Given the description of an element on the screen output the (x, y) to click on. 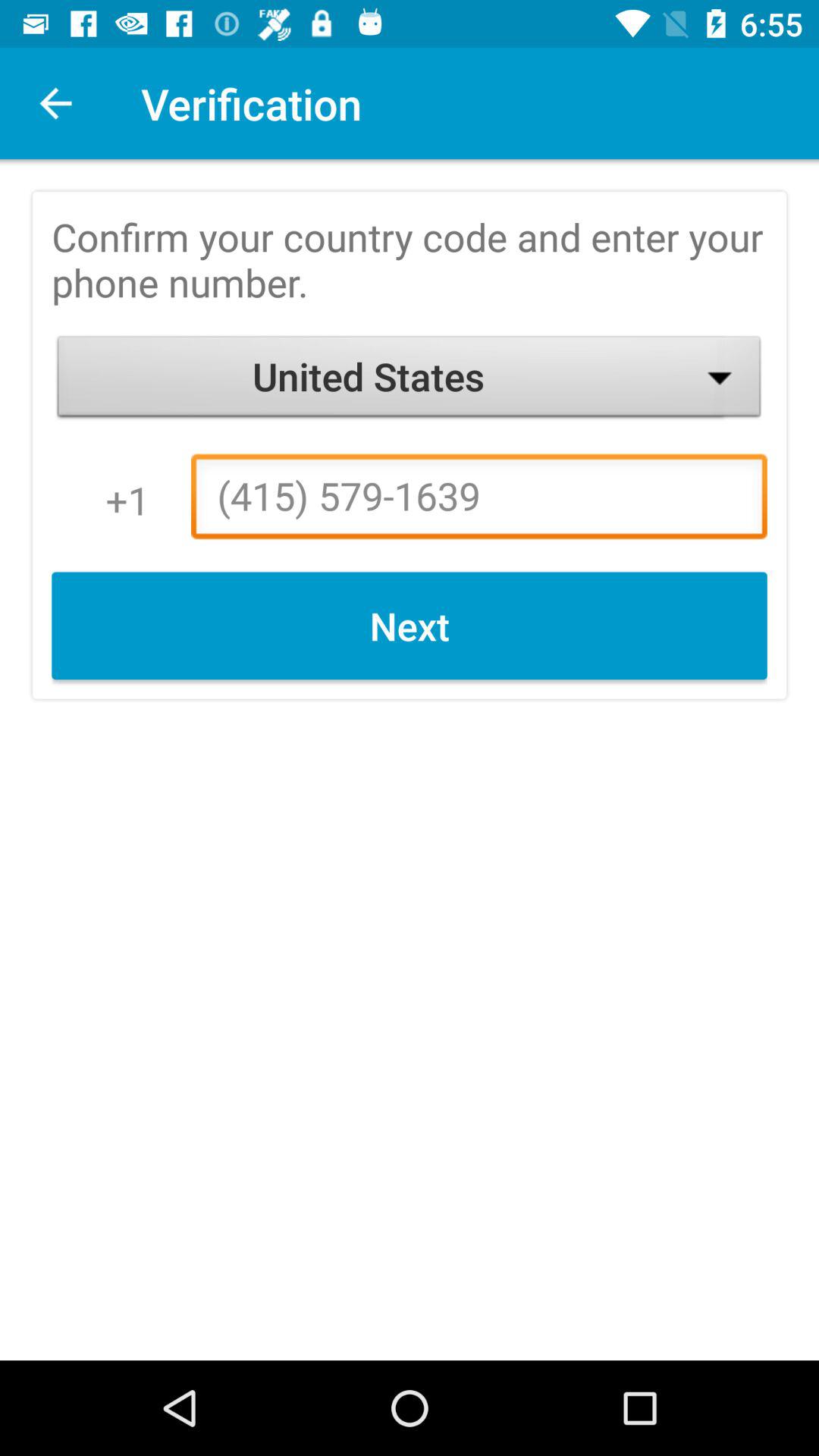
open app next to   verification icon (55, 103)
